Given the description of an element on the screen output the (x, y) to click on. 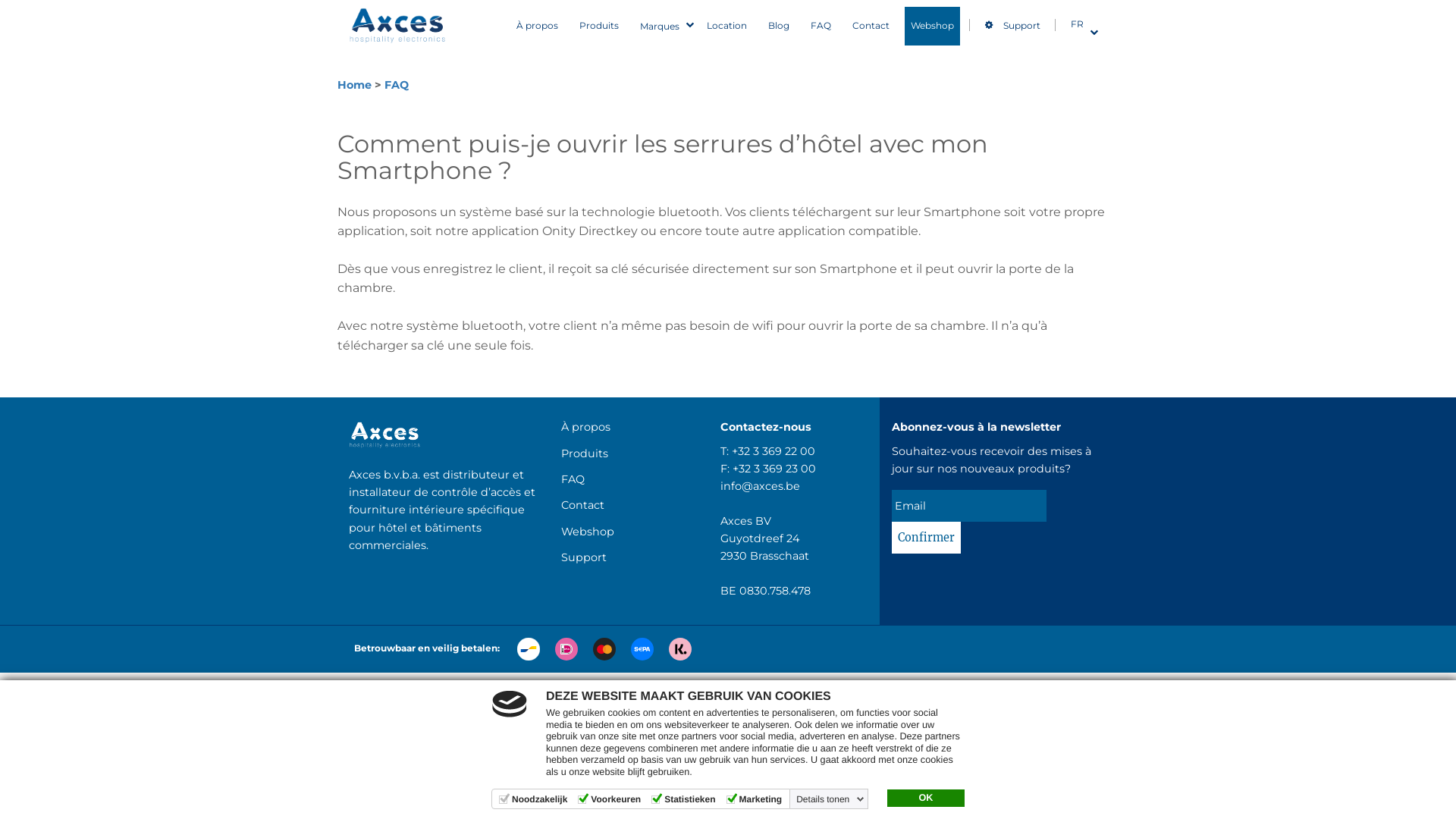
Location Element type: text (726, 25)
Webshop Element type: text (587, 531)
Home Element type: text (354, 84)
Webshop Element type: text (932, 25)
+32 3 369 22 00 Element type: text (773, 451)
FAQ Element type: text (820, 25)
Produits Element type: text (584, 453)
Contact Element type: text (870, 25)
Confirmer Element type: text (925, 537)
Contact Element type: text (582, 504)
FAQ Element type: text (396, 84)
FR Element type: text (1079, 24)
Support Element type: text (1015, 25)
OK Element type: text (925, 798)
Blog Element type: text (778, 25)
info@axces.be Element type: text (760, 485)
Produits Element type: text (598, 25)
Axces Element type: hover (397, 26)
FAQ Element type: text (572, 479)
Marques Element type: text (662, 25)
+32 3 369 23 00 Element type: text (773, 468)
Details tonen Element type: text (830, 799)
Support Element type: text (583, 557)
Termes et conditions Element type: text (703, 688)
